Given the description of an element on the screen output the (x, y) to click on. 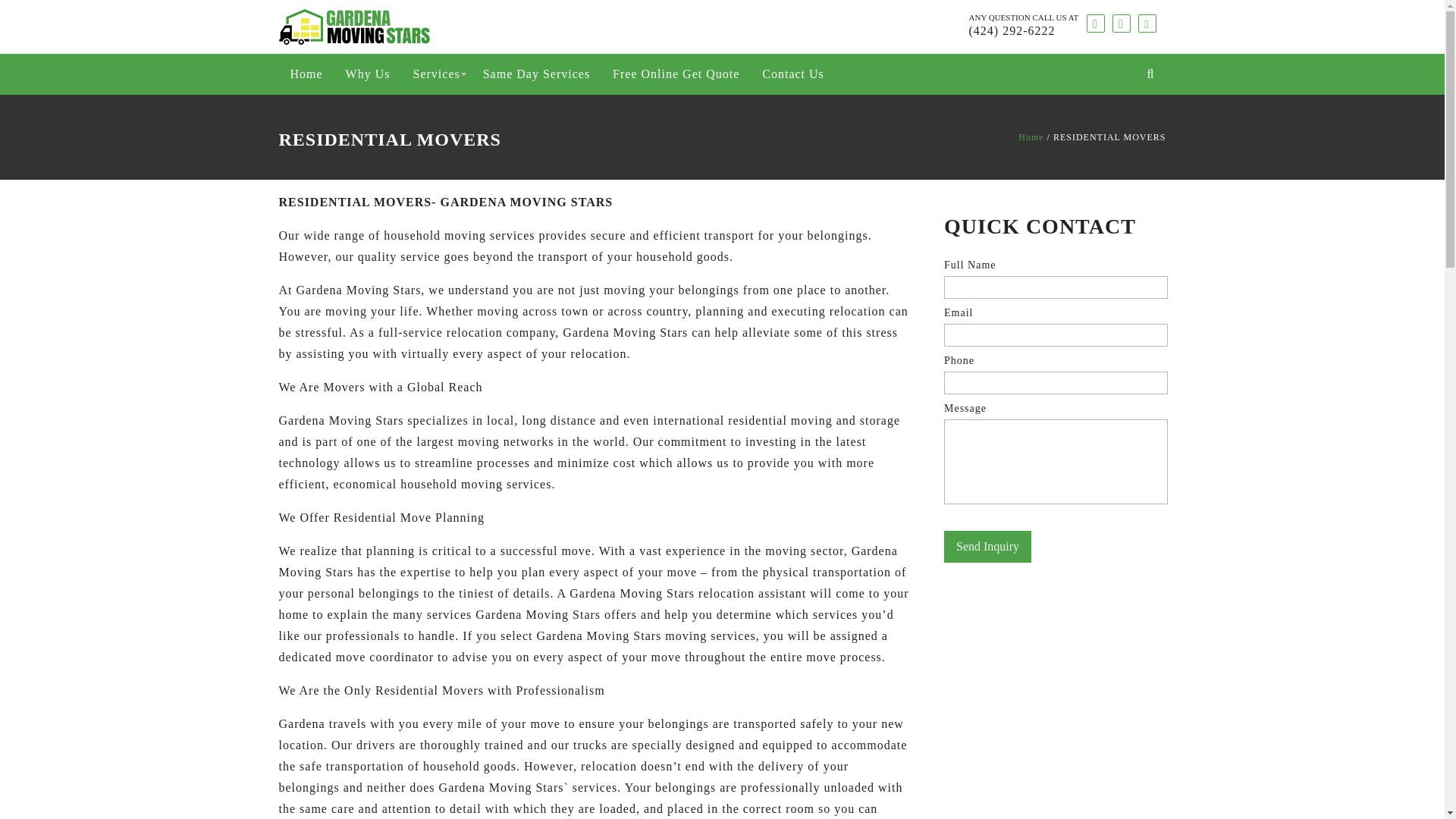
GPlus (1146, 23)
Twitter (1120, 23)
Same Day Services (536, 74)
Why Us (367, 74)
Send Inquiry (986, 546)
Send Inquiry (986, 546)
Free Online Get Quote (676, 74)
Home (1030, 136)
Home (306, 74)
Services (436, 74)
